Given the description of an element on the screen output the (x, y) to click on. 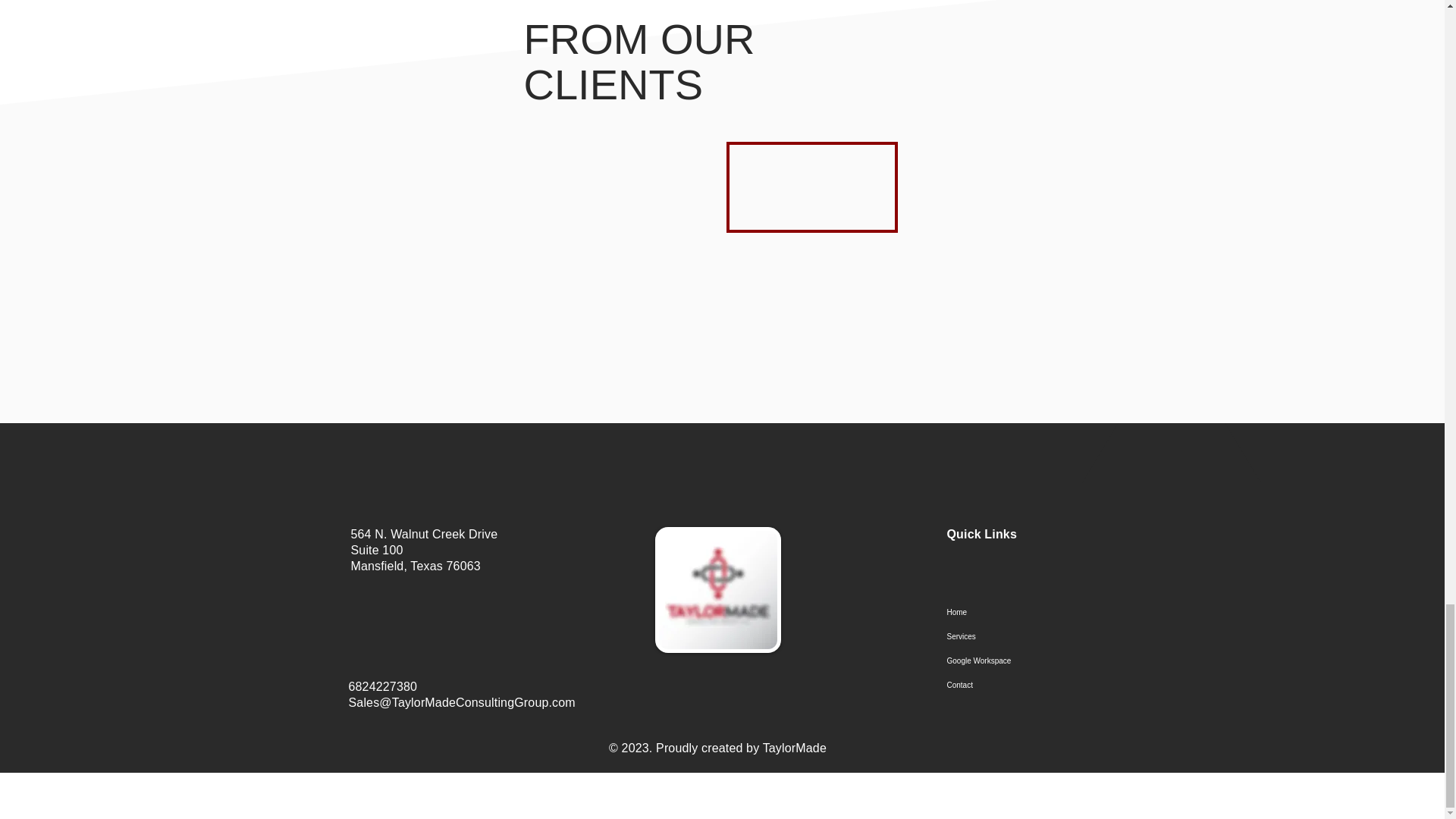
Services (1019, 636)
Home (1019, 612)
